Given the description of an element on the screen output the (x, y) to click on. 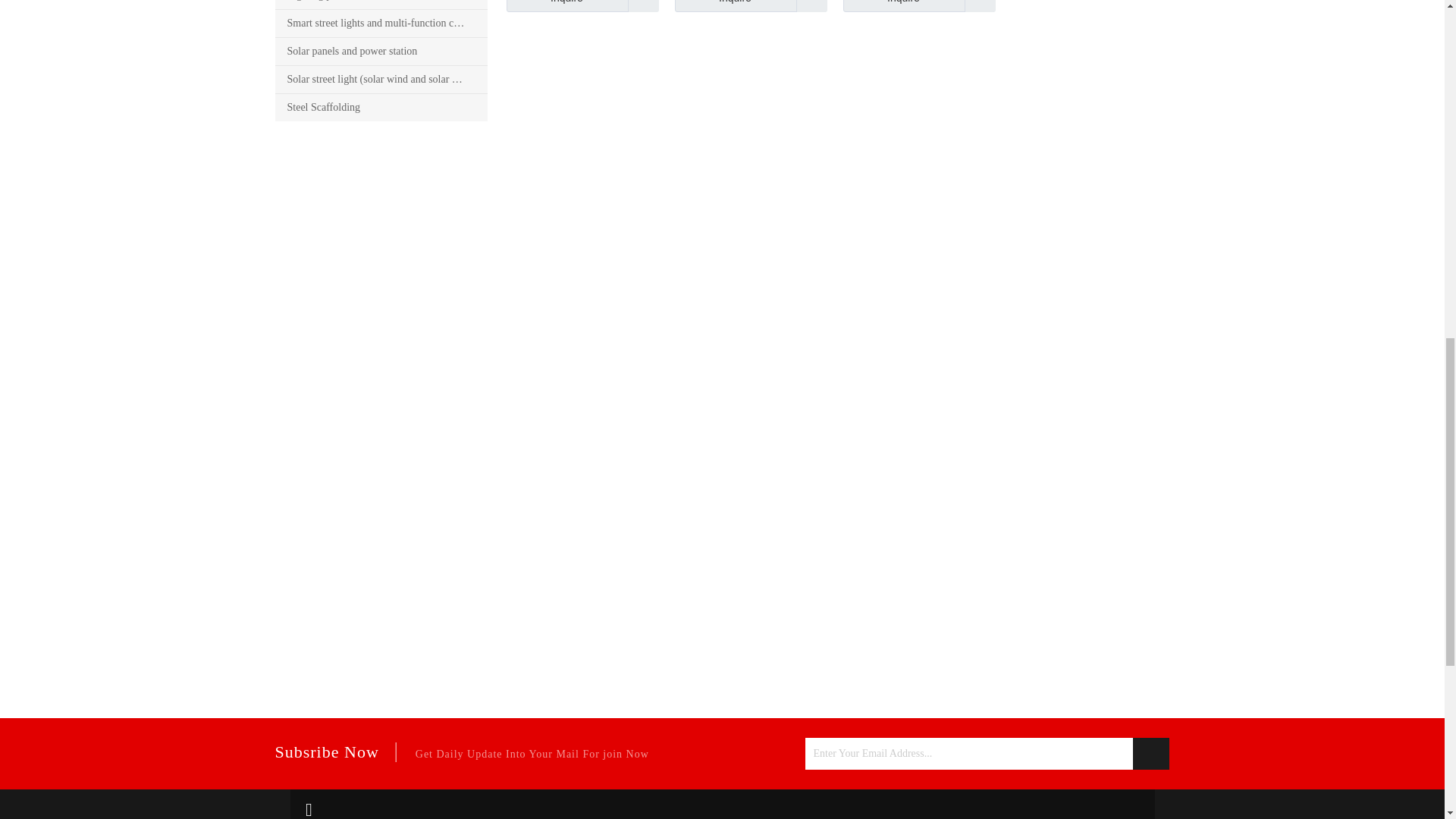
Steel Scaffolding (380, 107)
Lighting pole (380, 4)
Steel Scaffolding (380, 107)
Smart street lights and multi-function combination poles (380, 22)
Smart street lights and multi-function combination poles (380, 22)
Solar panels and power station (380, 51)
Lighting pole (380, 4)
Solar panels and power station (380, 51)
